Given the description of an element on the screen output the (x, y) to click on. 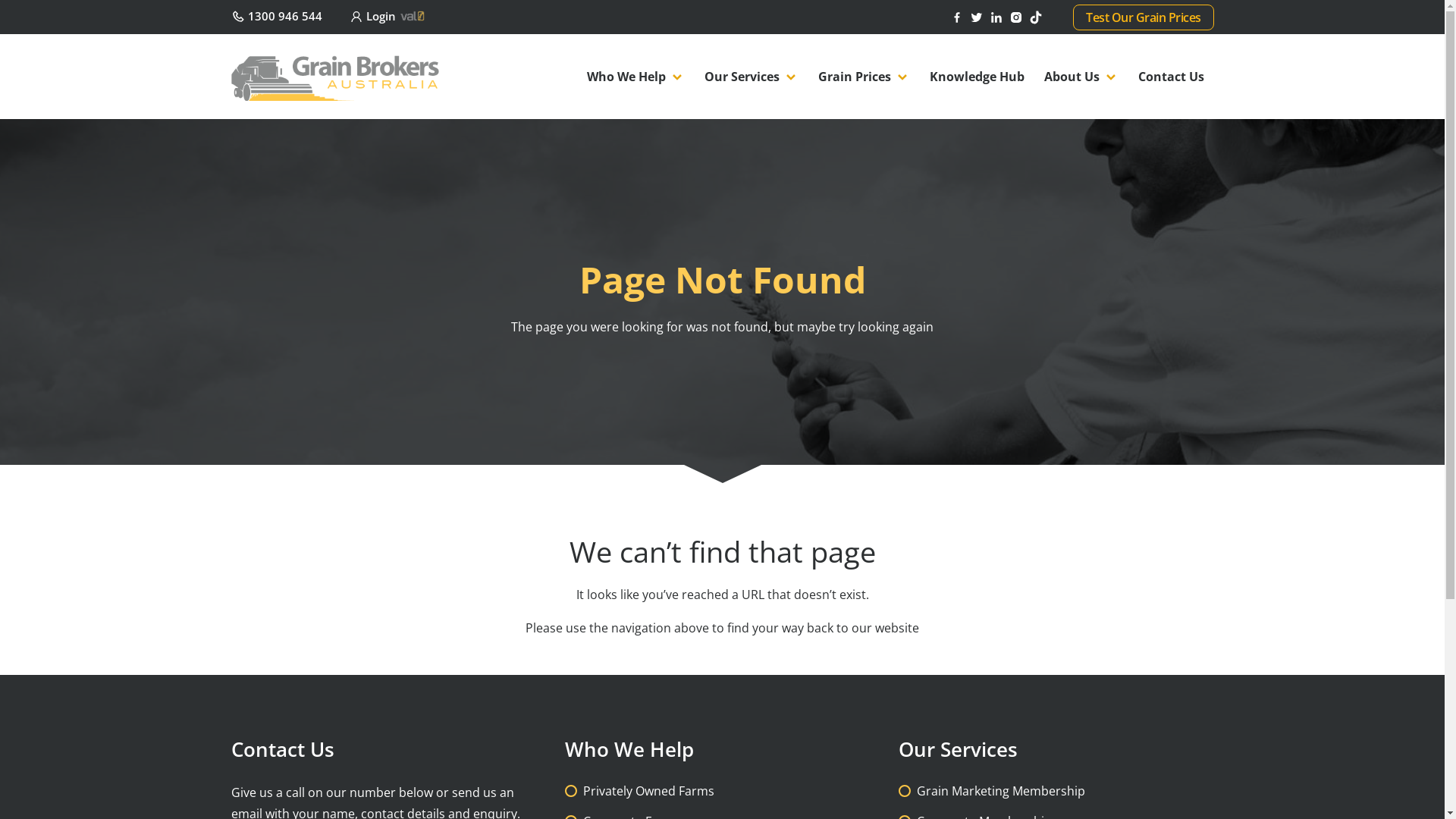
LinkedIn Element type: hover (997, 15)
Twitter Element type: hover (977, 15)
Who We Help Element type: text (634, 76)
Our Services Element type: text (751, 76)
1300 946 544 Element type: text (275, 15)
Instagram Element type: hover (1017, 15)
Grain Prices Element type: text (863, 76)
Grain Brokers Australia Element type: hover (335, 74)
Tiktok Element type: hover (1037, 15)
Grain Marketing Membership Element type: text (1000, 790)
Test Our Grain Prices Element type: text (1143, 17)
Login Element type: text (387, 15)
Knowledge Hub Element type: text (976, 76)
About Us Element type: text (1081, 76)
Contact Us Element type: text (1171, 76)
Privately Owned Farms Element type: text (647, 790)
Facebook Element type: hover (958, 15)
